Given the description of an element on the screen output the (x, y) to click on. 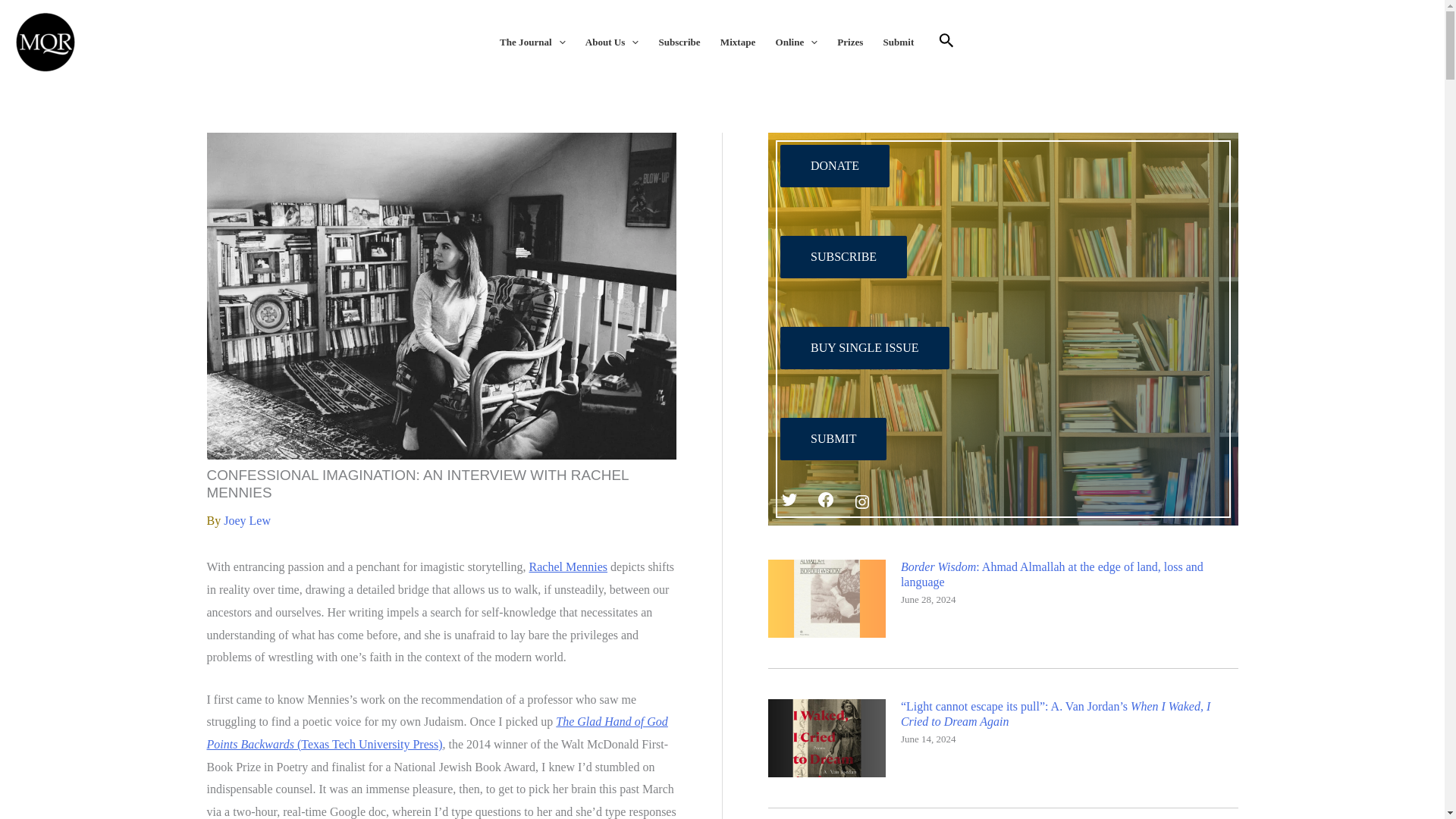
Posts by Joey Lew (247, 520)
Online (796, 42)
Prizes (849, 42)
About Us (612, 42)
The Journal (532, 42)
Submit (897, 42)
Subscribe (678, 42)
Mixtape (737, 42)
